Given the description of an element on the screen output the (x, y) to click on. 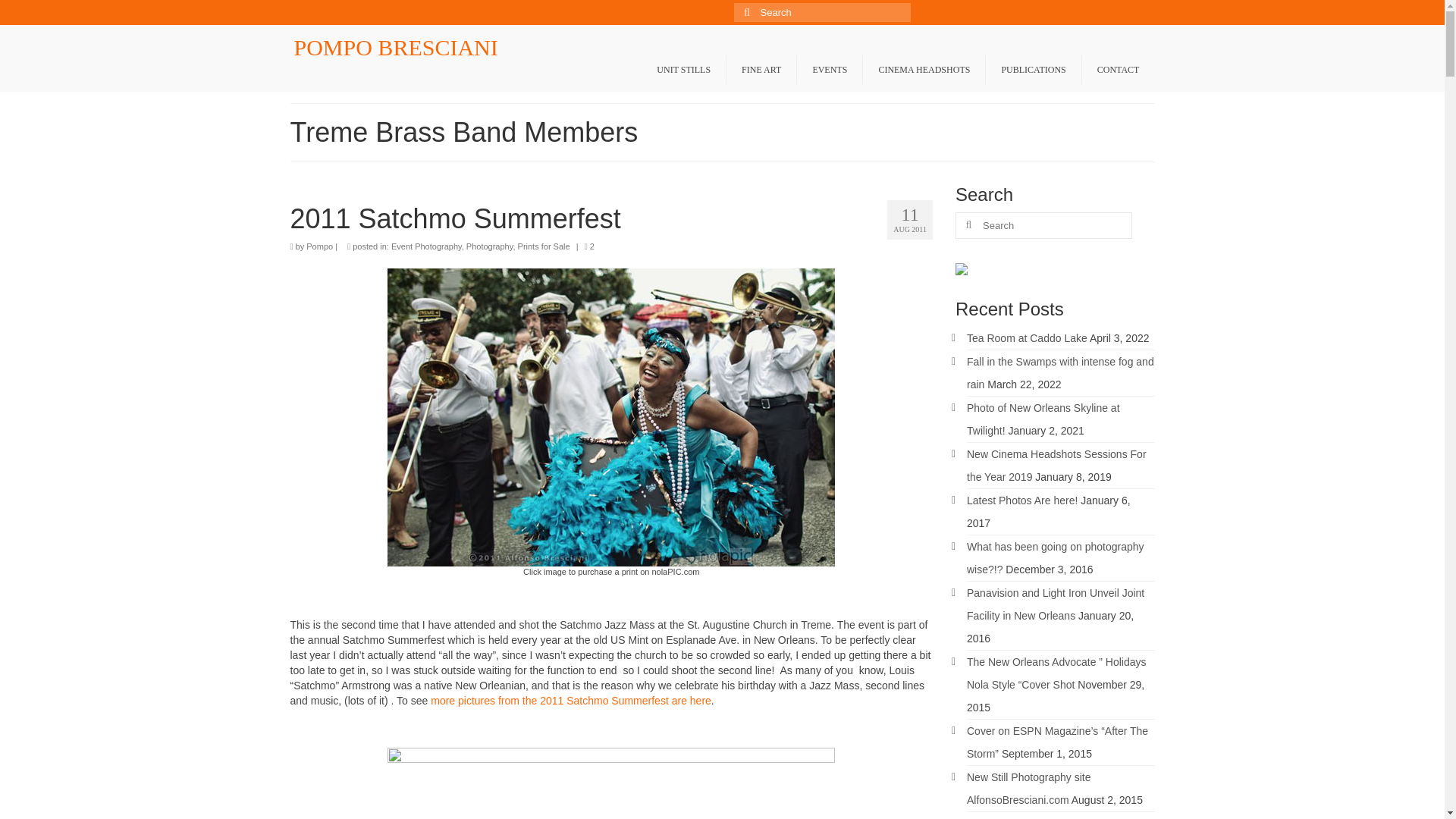
POMPO BRESCIANI (395, 47)
Pompo (319, 245)
PUBLICATIONS (1032, 69)
Prints for Sale (544, 245)
more pictures from the 2011 Satchmo Summerfest are here (570, 700)
Photography (489, 245)
FINE ART (761, 69)
UNIT STILLS (683, 69)
2011 Satchmo Summerfest (611, 218)
Event Photography (426, 245)
CONTACT (1117, 69)
EVENTS (828, 69)
CINEMA HEADSHOTS (924, 69)
